Given the description of an element on the screen output the (x, y) to click on. 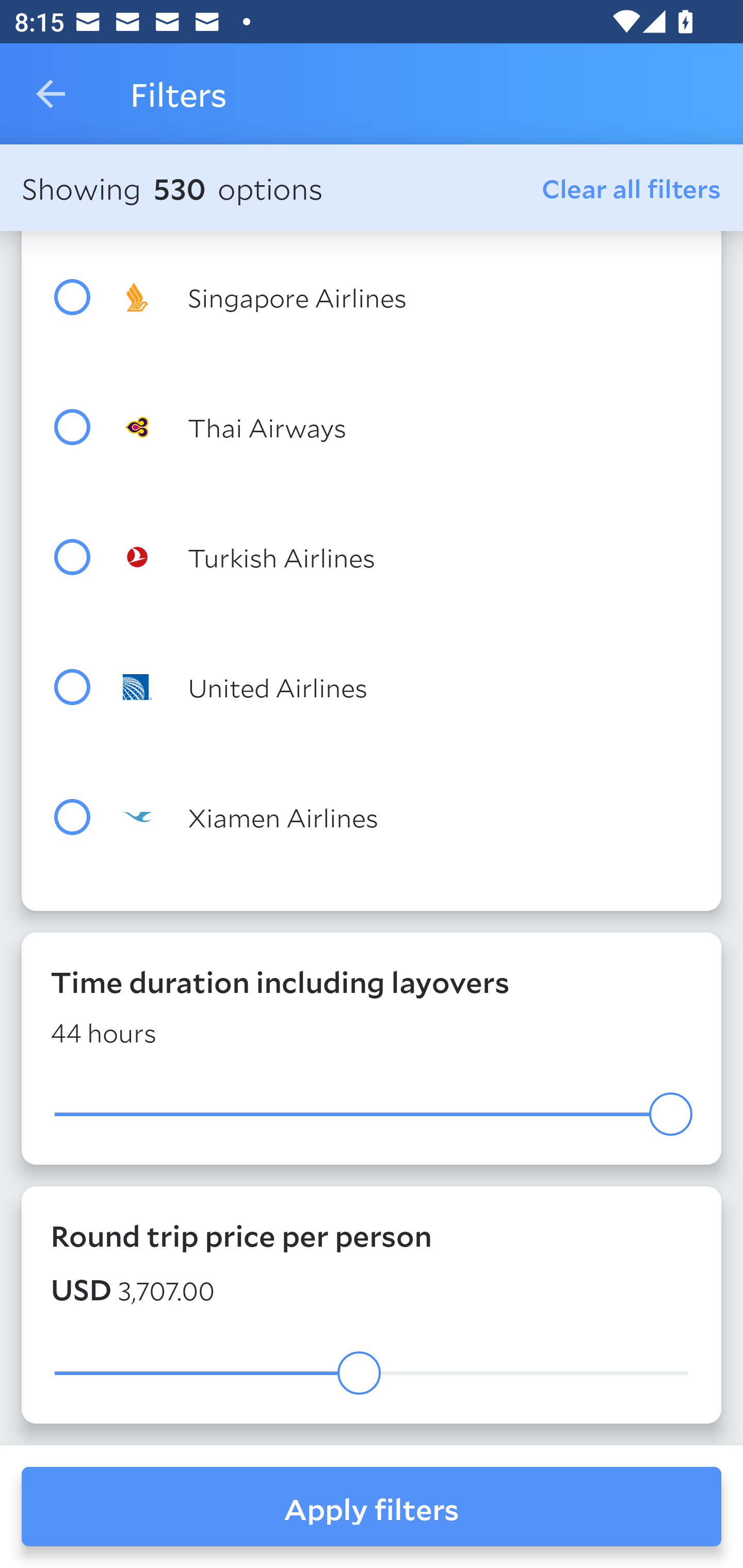
Navigate up (50, 93)
Clear all filters (631, 187)
Singapore Airlines (407, 296)
Thai Airways (407, 426)
Turkish Airlines (407, 556)
United Airlines (407, 686)
Xiamen Airlines (407, 816)
Apply filters (371, 1506)
